Given the description of an element on the screen output the (x, y) to click on. 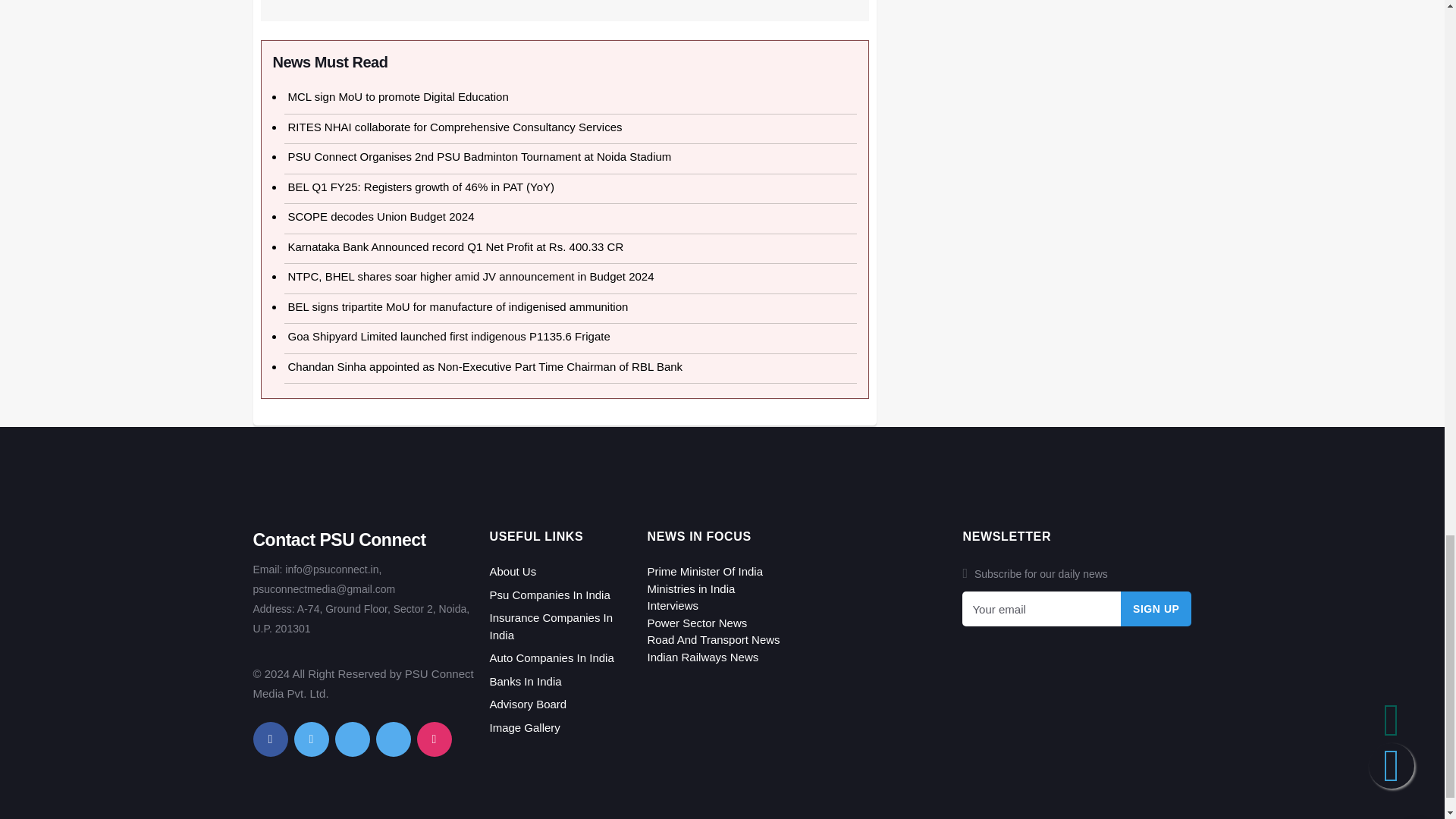
Sign Up (1156, 608)
SCOPE decodes Union Budget 2024 (381, 215)
MCL sign MoU to promote Digital Education (398, 96)
